Given the description of an element on the screen output the (x, y) to click on. 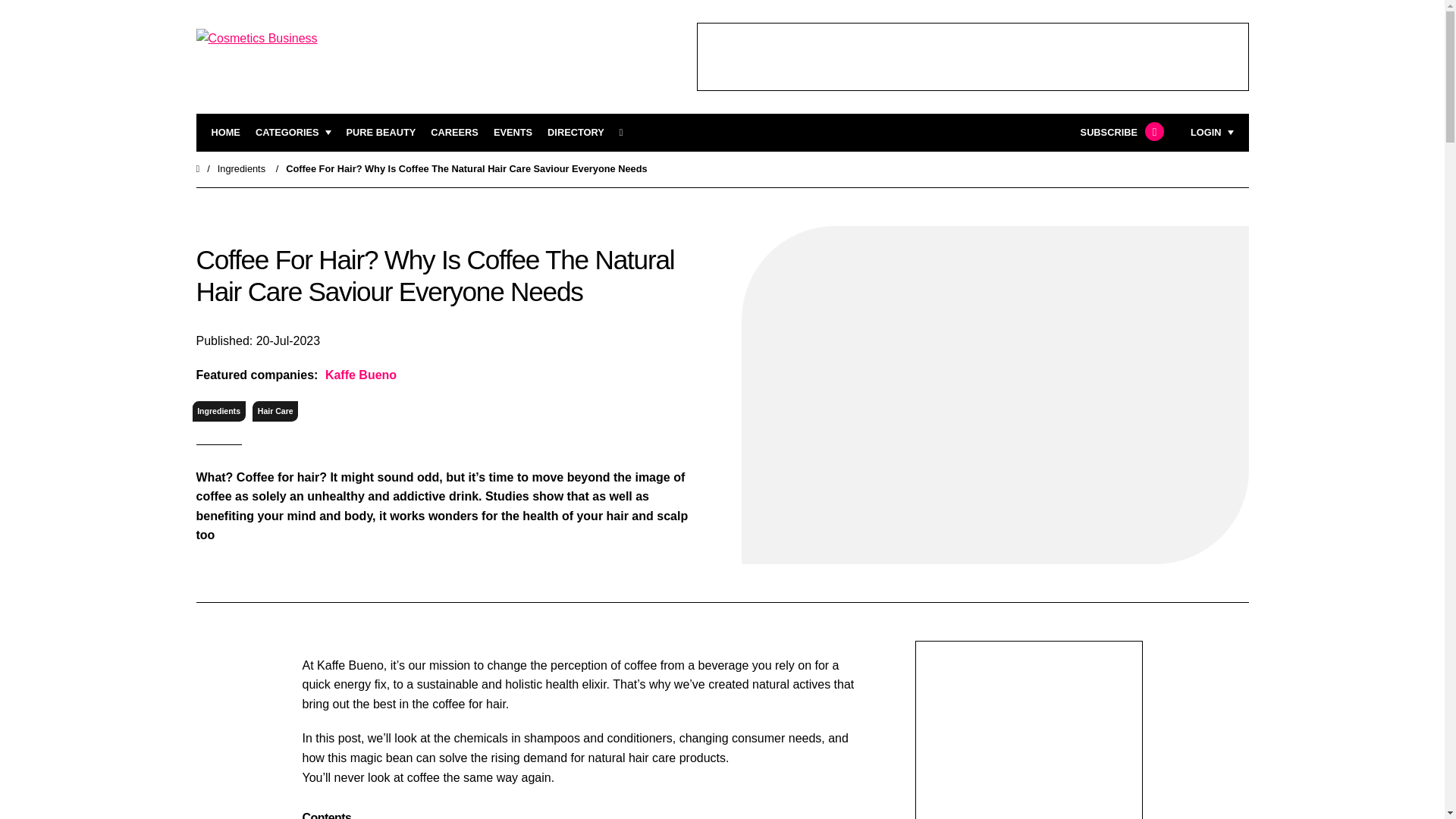
Pure Beauty (381, 133)
SUBSCRIBE (1120, 133)
EVENTS (512, 133)
Sign In (1134, 321)
Ingredients (219, 411)
SEARCH (626, 133)
HOME (225, 133)
Ingredients (240, 168)
PURE BEAUTY (381, 133)
DIRECTORY (575, 133)
